Given the description of an element on the screen output the (x, y) to click on. 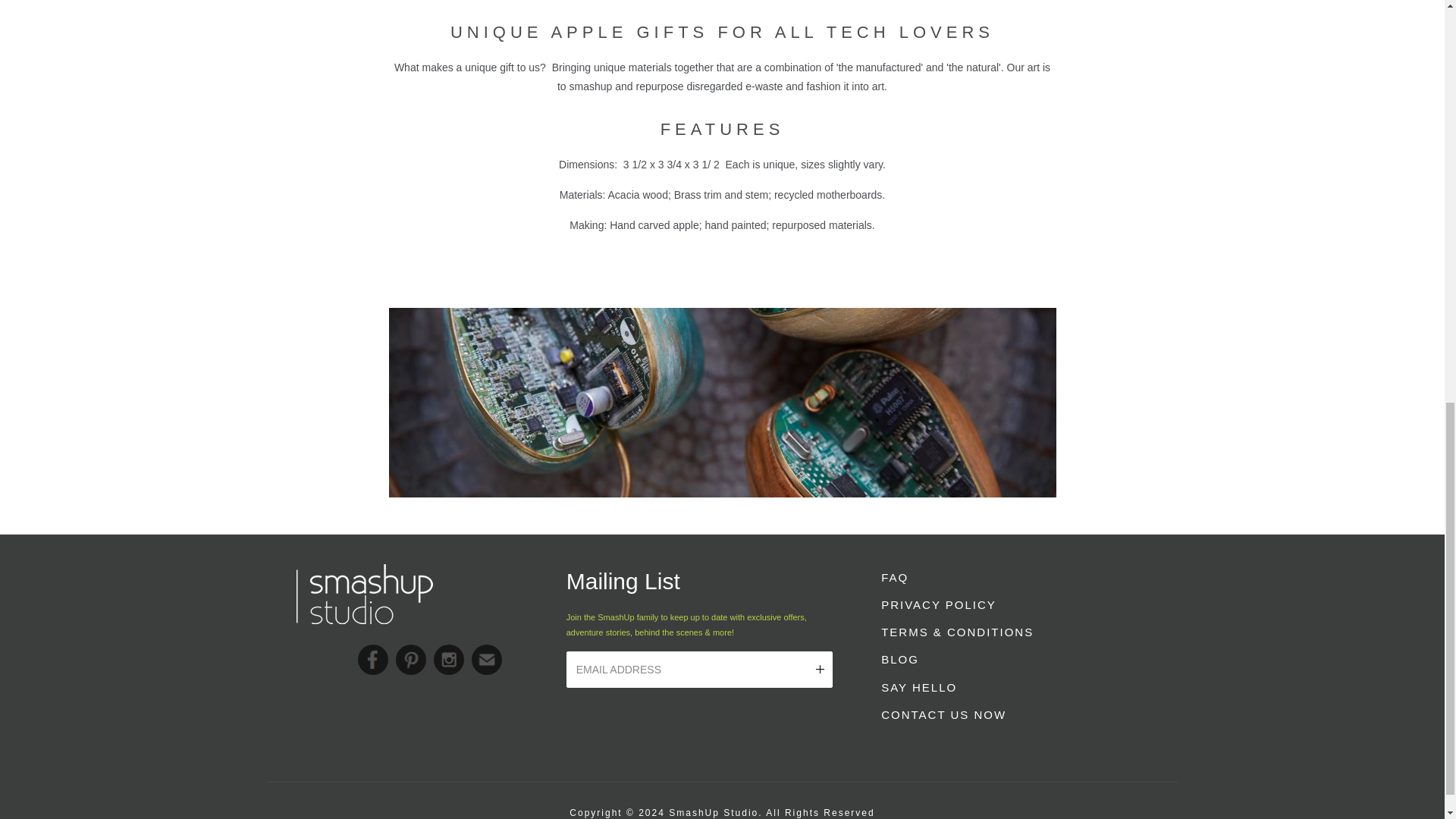
SmashUp Studio on Pinterest (411, 659)
SmashUp Studio on Instagram (448, 659)
SmashUp Studio on Facebook (373, 659)
